Given the description of an element on the screen output the (x, y) to click on. 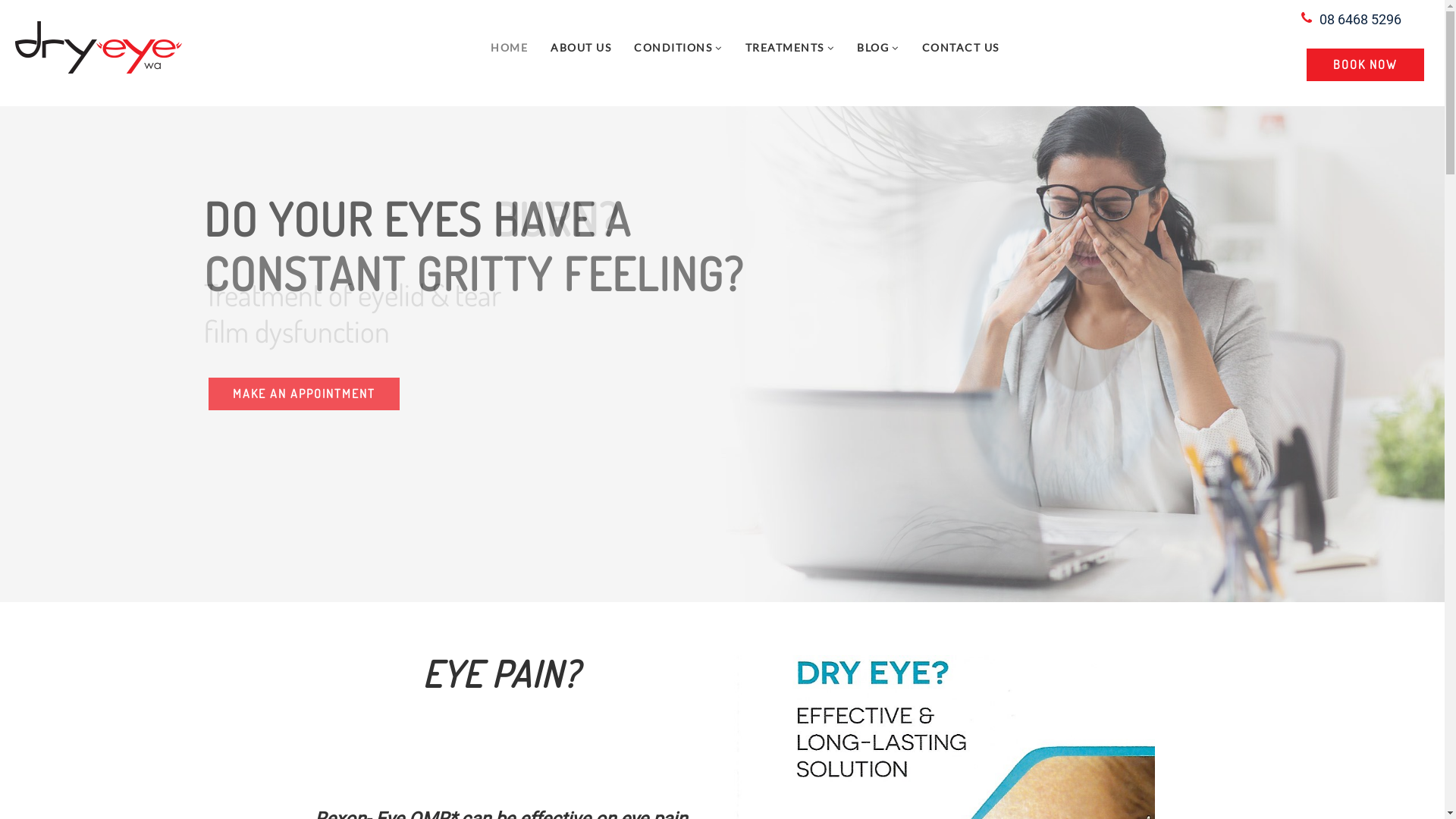
TREATMENTS Element type: text (789, 46)
MAKE AN APPOINTMENT Element type: text (303, 393)
HOME Element type: text (508, 46)
BOOK NOW Element type: text (1365, 64)
CONDITIONS Element type: text (677, 46)
08 6468 5296 Element type: text (1360, 19)
CONTACT US Element type: text (960, 46)
BLOG Element type: text (877, 46)
ABOUT US Element type: text (580, 46)
